Given the description of an element on the screen output the (x, y) to click on. 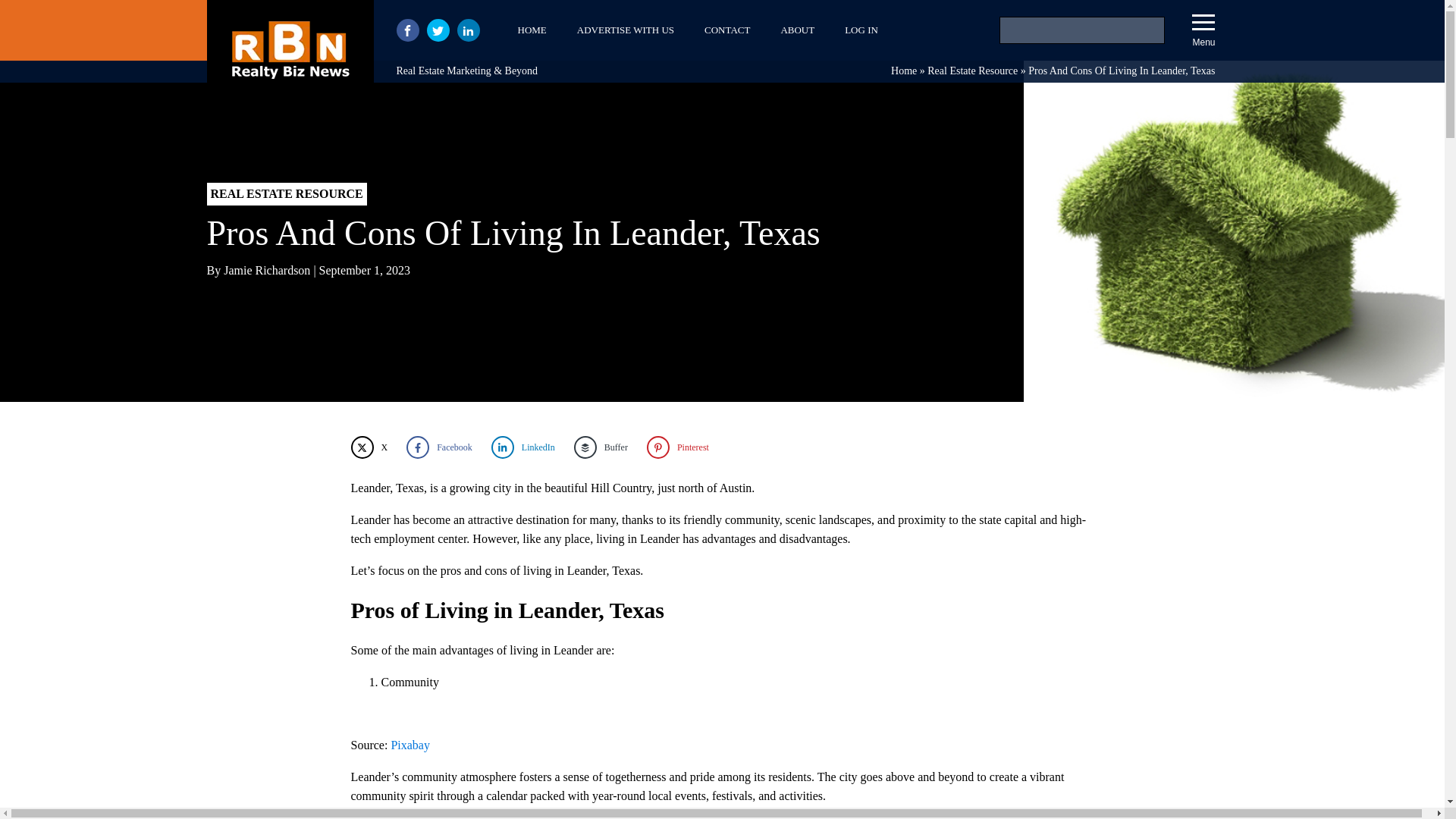
Real Estate Resource (972, 70)
Search (31, 13)
HOME (531, 30)
Home (904, 70)
ABOUT (797, 30)
Home (904, 70)
LOG IN (861, 30)
CONTACT (726, 30)
Real Estate Resource (972, 70)
ADVERTISE WITH US (625, 30)
